Given the description of an element on the screen output the (x, y) to click on. 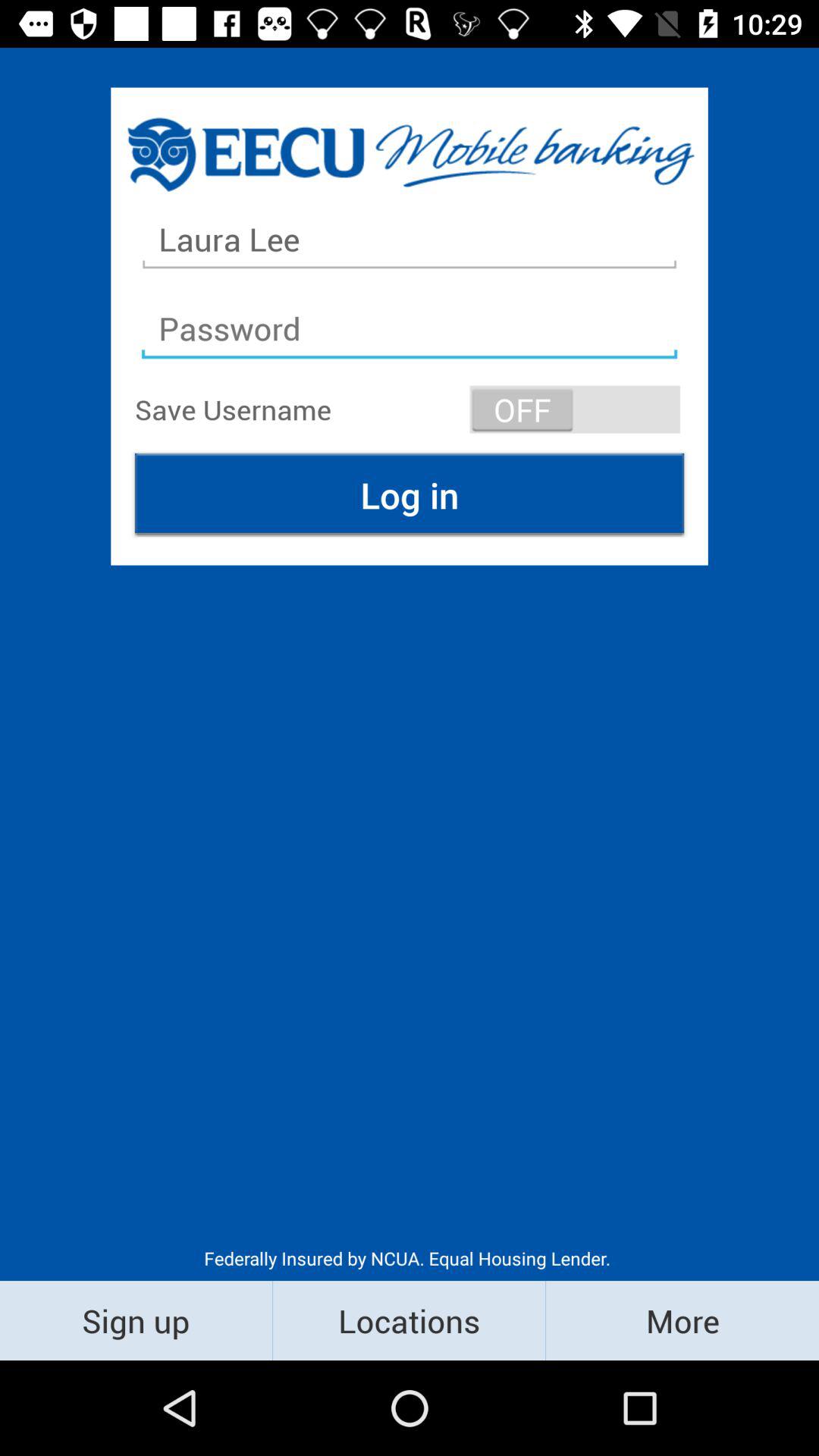
launch the icon next to the save username icon (574, 409)
